Given the description of an element on the screen output the (x, y) to click on. 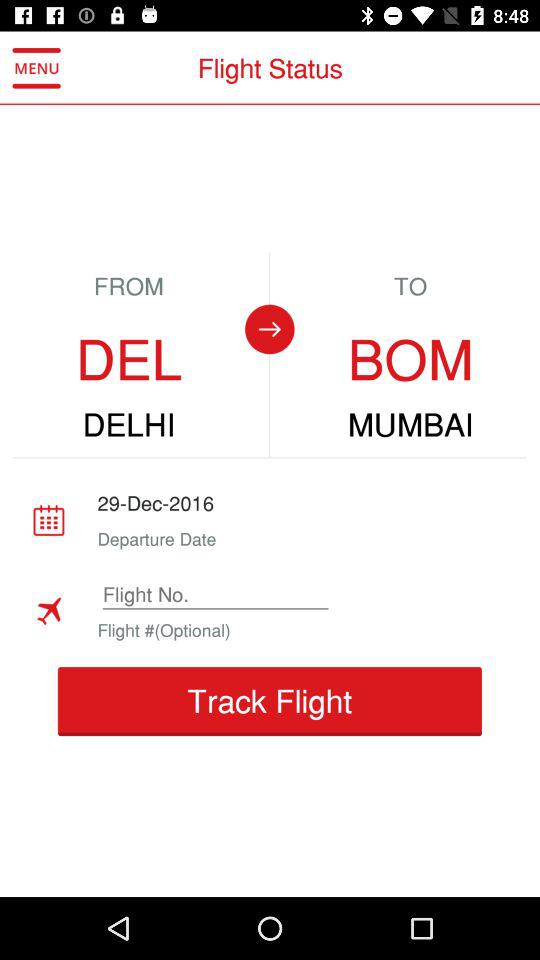
press the icon below flight #(optional) (269, 701)
